Given the description of an element on the screen output the (x, y) to click on. 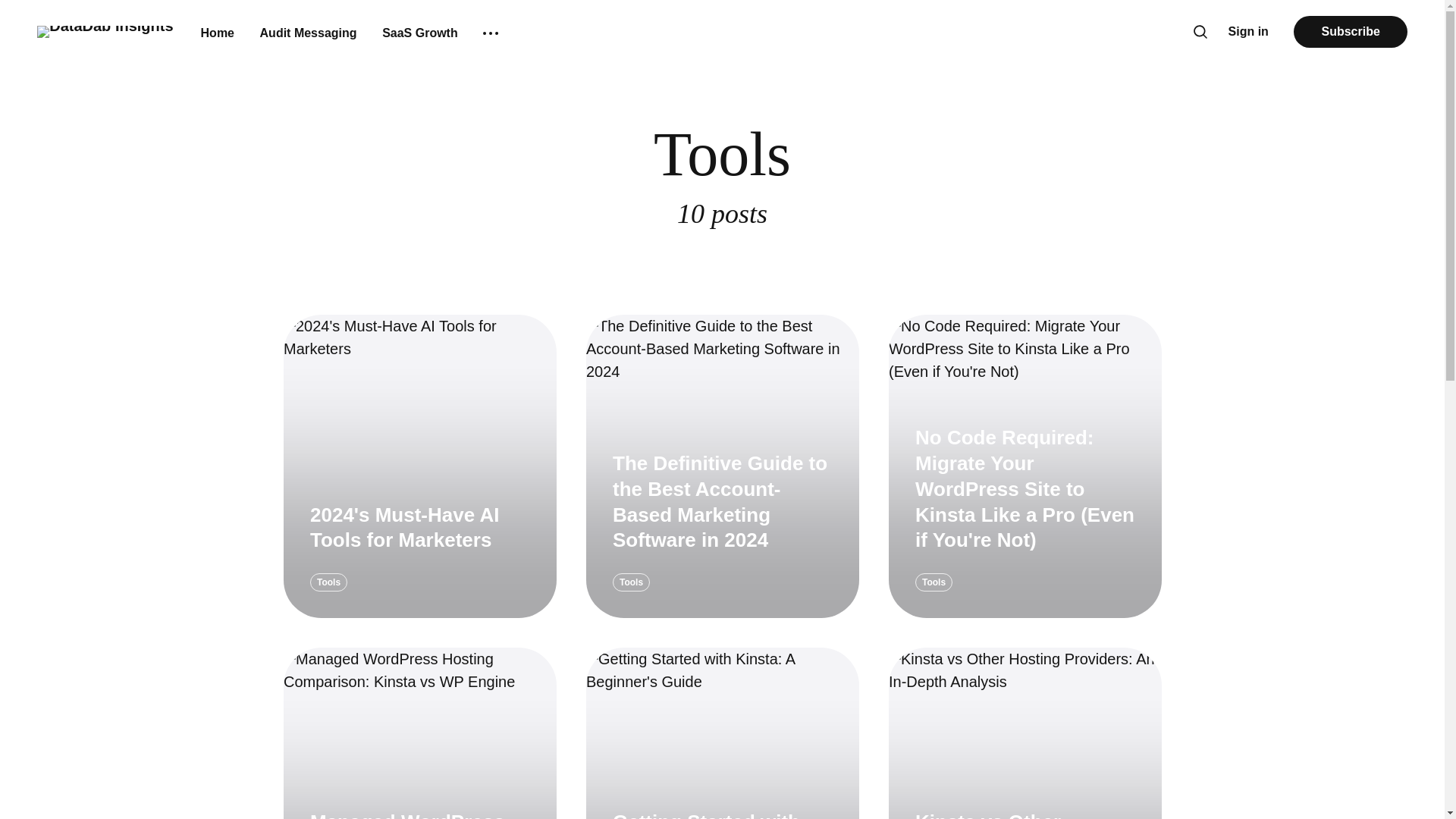
Tools (328, 589)
Subscribe (1350, 31)
Sign in (1248, 31)
Tools (630, 585)
Kinsta vs Other Hosting Providers: An In-Depth Analysis (1018, 814)
Home (217, 33)
Managed WordPress Hosting Comparison: Kinsta vs WP Engine (410, 814)
2024's Must-Have AI Tools for Marketers (404, 537)
SaaS Growth (419, 33)
Getting Started with Kinsta: A Beginner's Guide (707, 814)
Audit Messaging (308, 33)
Tools (933, 582)
